Given the description of an element on the screen output the (x, y) to click on. 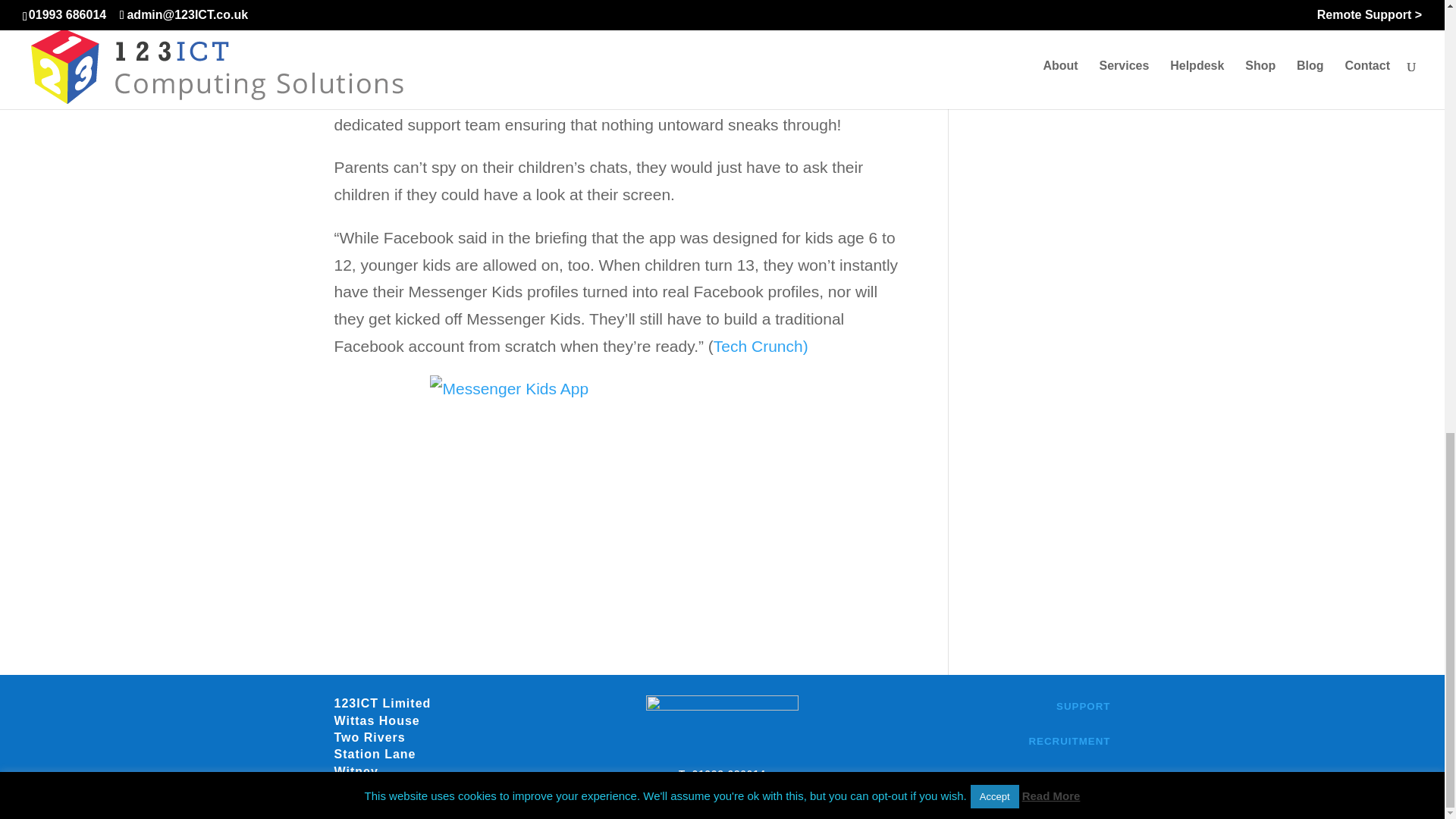
PRIVACY POLICY (1061, 776)
SUPPORT (1083, 706)
RECRUITMENT (1068, 740)
